Given the description of an element on the screen output the (x, y) to click on. 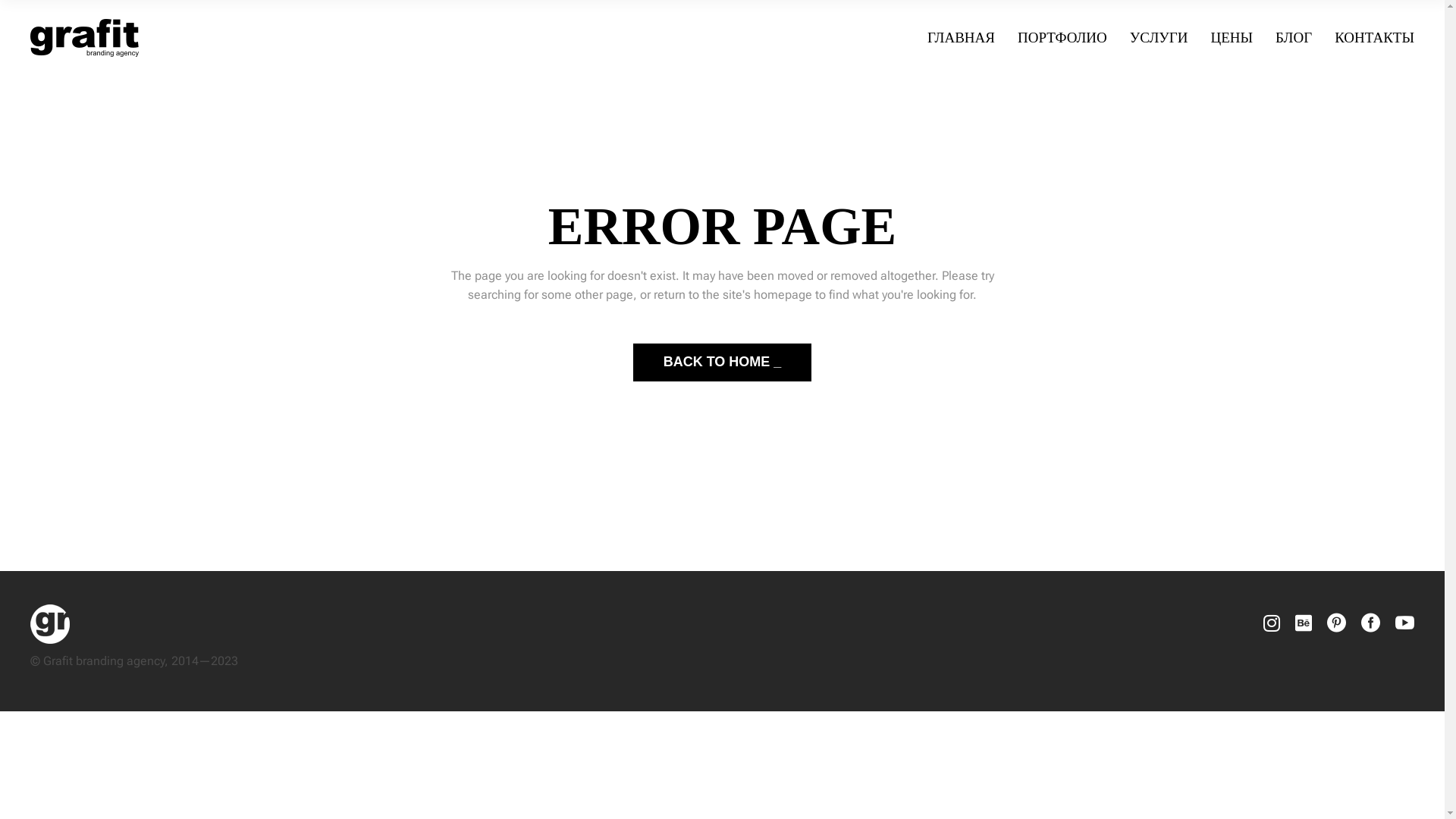
BACK TO HOME _ Element type: text (722, 362)
